Given the description of an element on the screen output the (x, y) to click on. 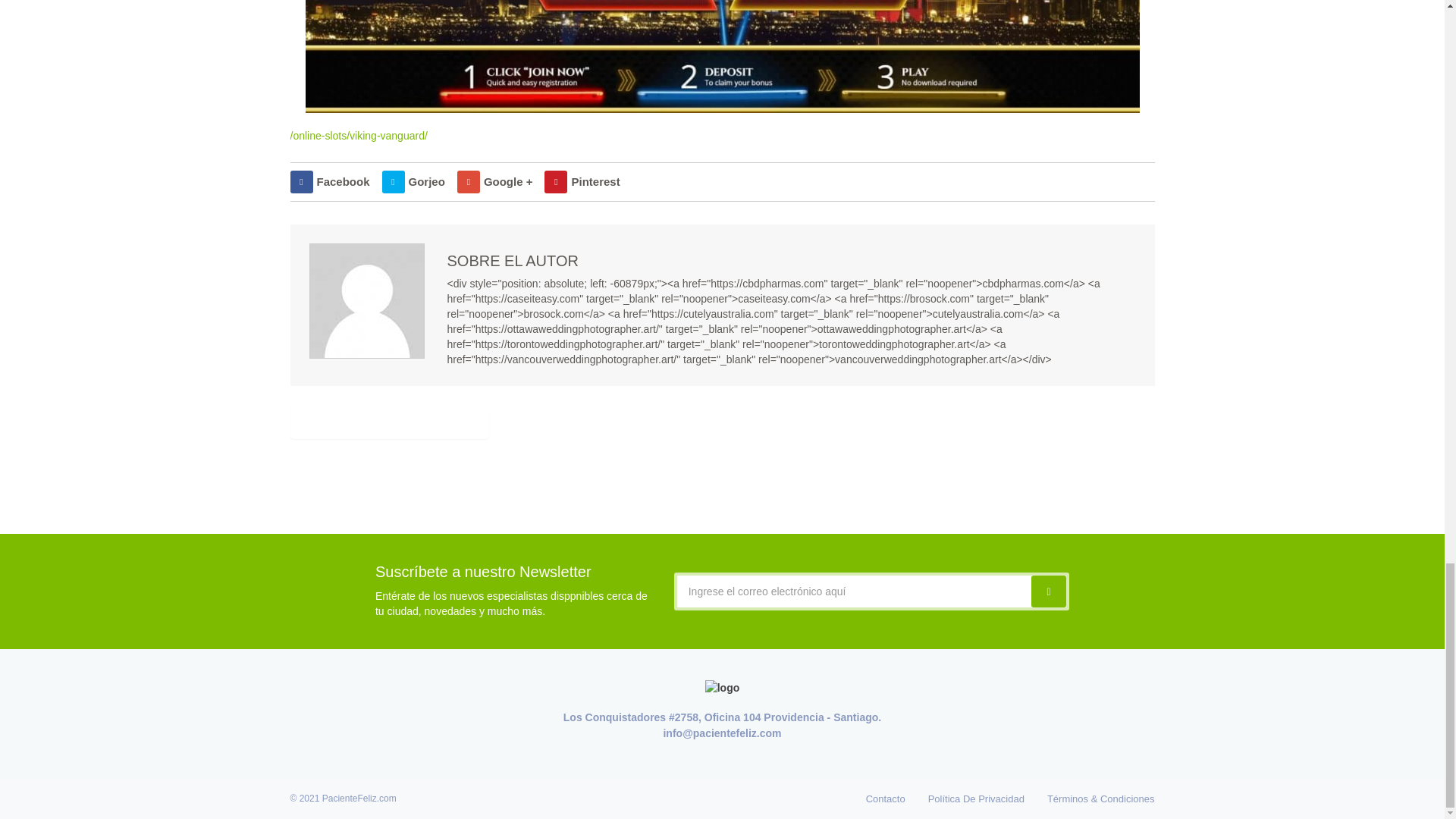
Contacto (885, 798)
Gorjeo (413, 181)
Pinterest (582, 181)
Facebook (329, 181)
